Given the description of an element on the screen output the (x, y) to click on. 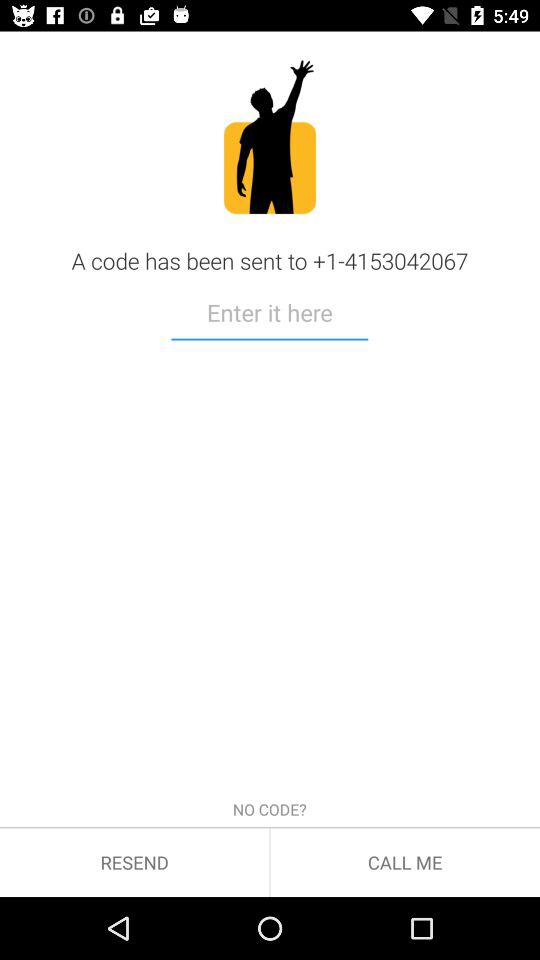
tap the call me item (405, 862)
